Given the description of an element on the screen output the (x, y) to click on. 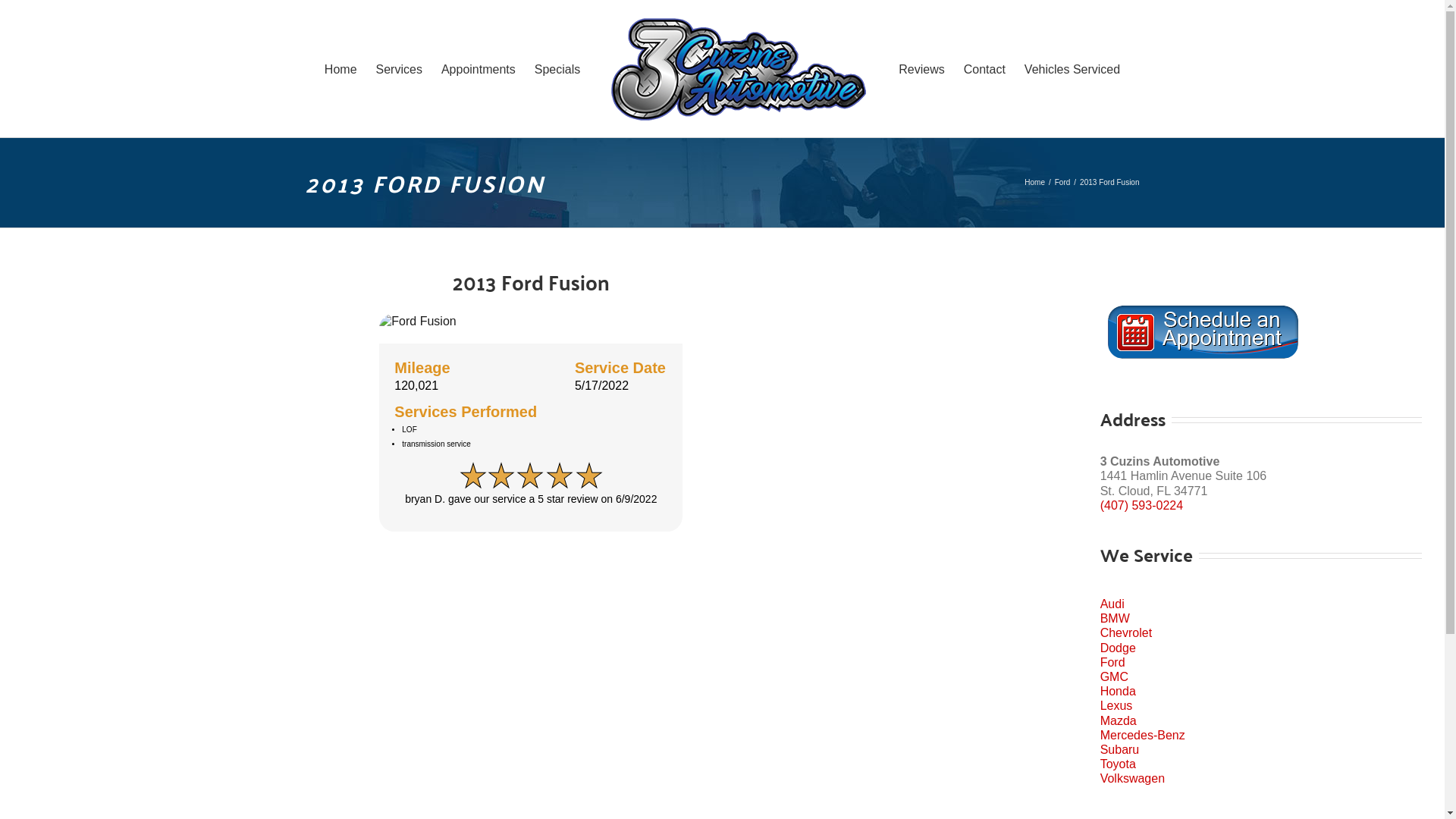
Ford Element type: text (1062, 182)
Volkswagen Element type: text (1260, 778)
Toyota Element type: text (1260, 763)
Chevrolet Element type: text (1260, 632)
Appointments Element type: text (478, 68)
Specials Element type: text (557, 68)
(407) 593-0224 Element type: text (1141, 504)
Lexus Element type: text (1260, 705)
Services Element type: text (399, 68)
Ford Element type: text (1260, 662)
Mercedes-Benz Element type: text (1260, 735)
BMW Element type: text (1260, 618)
Vehicles Serviced Element type: text (1072, 68)
Home Element type: text (340, 68)
Dodge Element type: text (1260, 647)
Mazda Element type: text (1260, 720)
GMC Element type: text (1260, 676)
Home Element type: text (1034, 182)
Reviews Element type: text (921, 68)
Audi Element type: text (1260, 603)
Contact Element type: text (984, 68)
Honda Element type: text (1260, 691)
Subaru Element type: text (1260, 749)
